Given the description of an element on the screen output the (x, y) to click on. 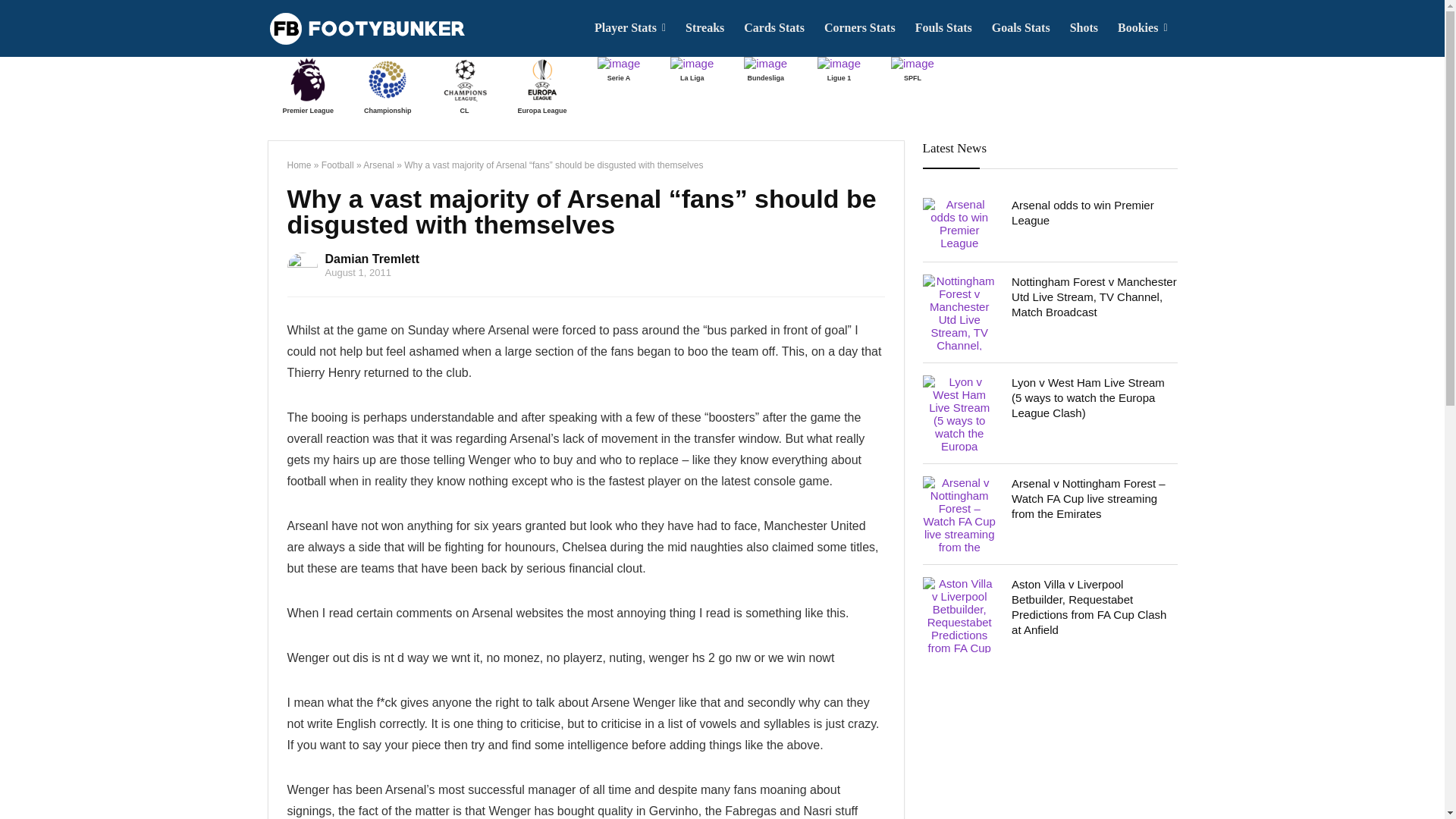
Serie A (618, 70)
Home (298, 164)
Corners Stats (859, 27)
SPFL (912, 70)
Goals Stats (1020, 27)
Fouls Stats (943, 27)
Bundesliga (765, 70)
Bookies (1142, 27)
Ligue 1 (838, 70)
Streaks (704, 27)
